Given the description of an element on the screen output the (x, y) to click on. 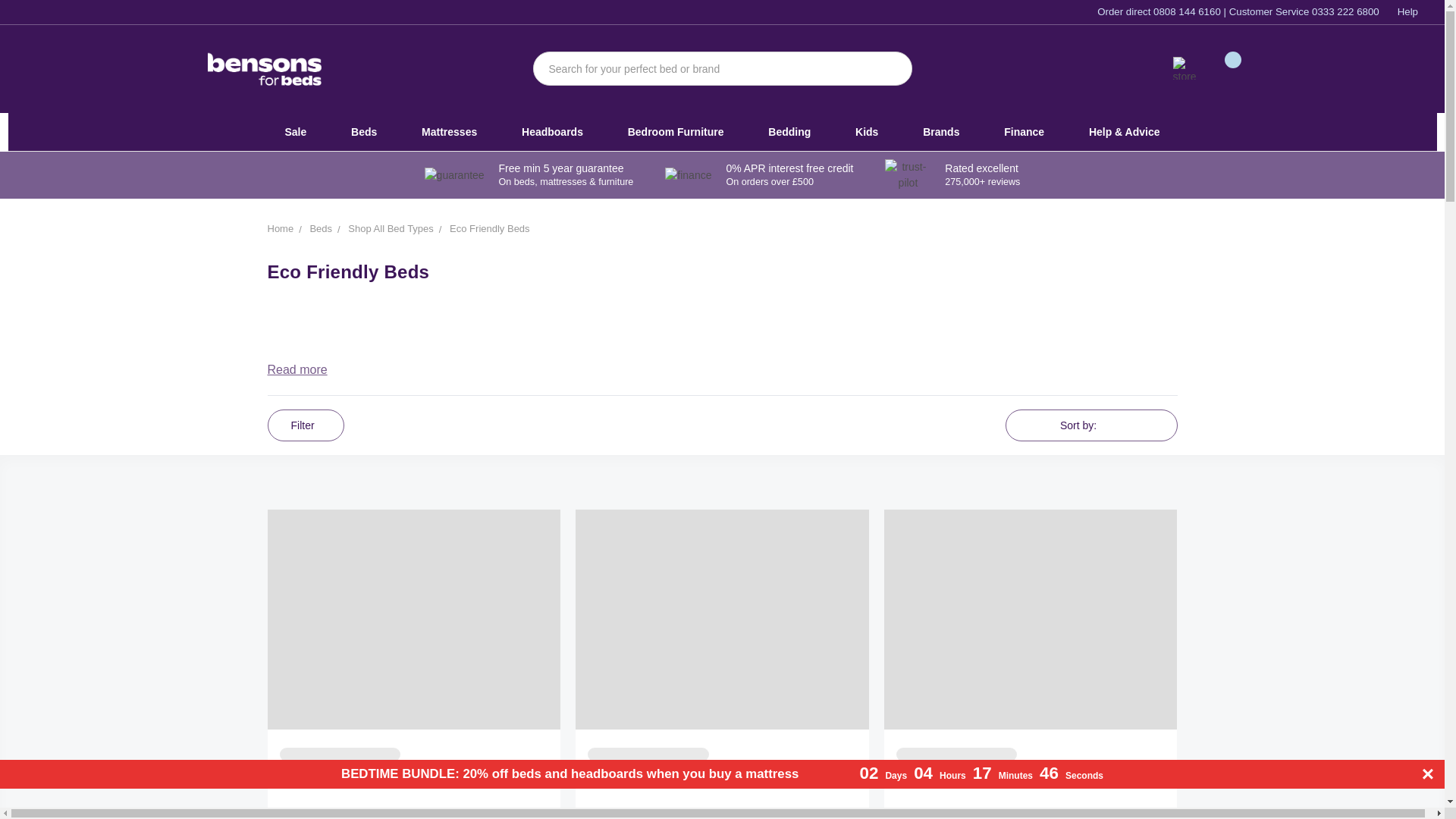
Bensons for Beds (264, 69)
Help (1407, 11)
Beds (363, 131)
Sale (295, 131)
